Given the description of an element on the screen output the (x, y) to click on. 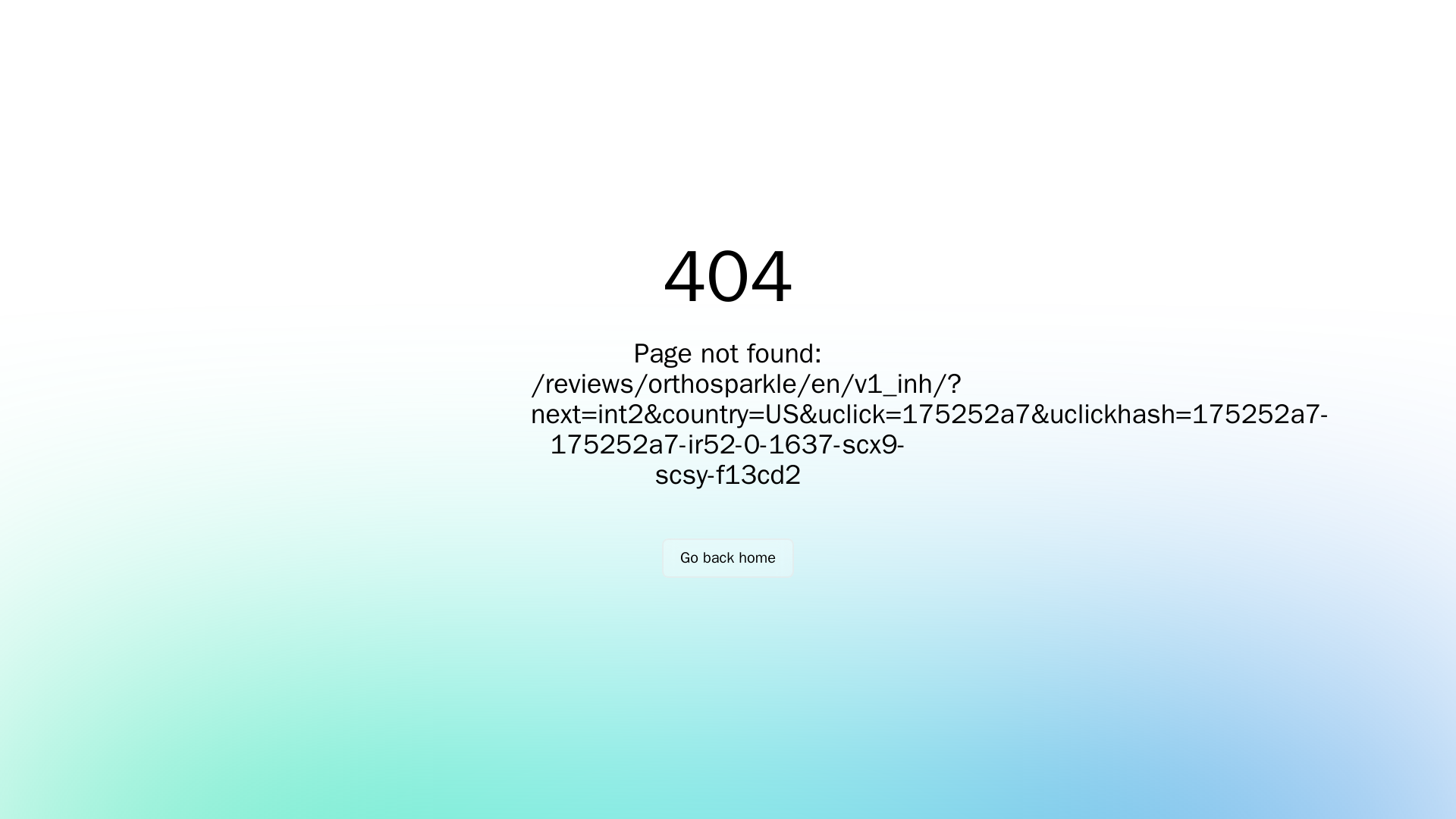
Go back home (727, 558)
